Given the description of an element on the screen output the (x, y) to click on. 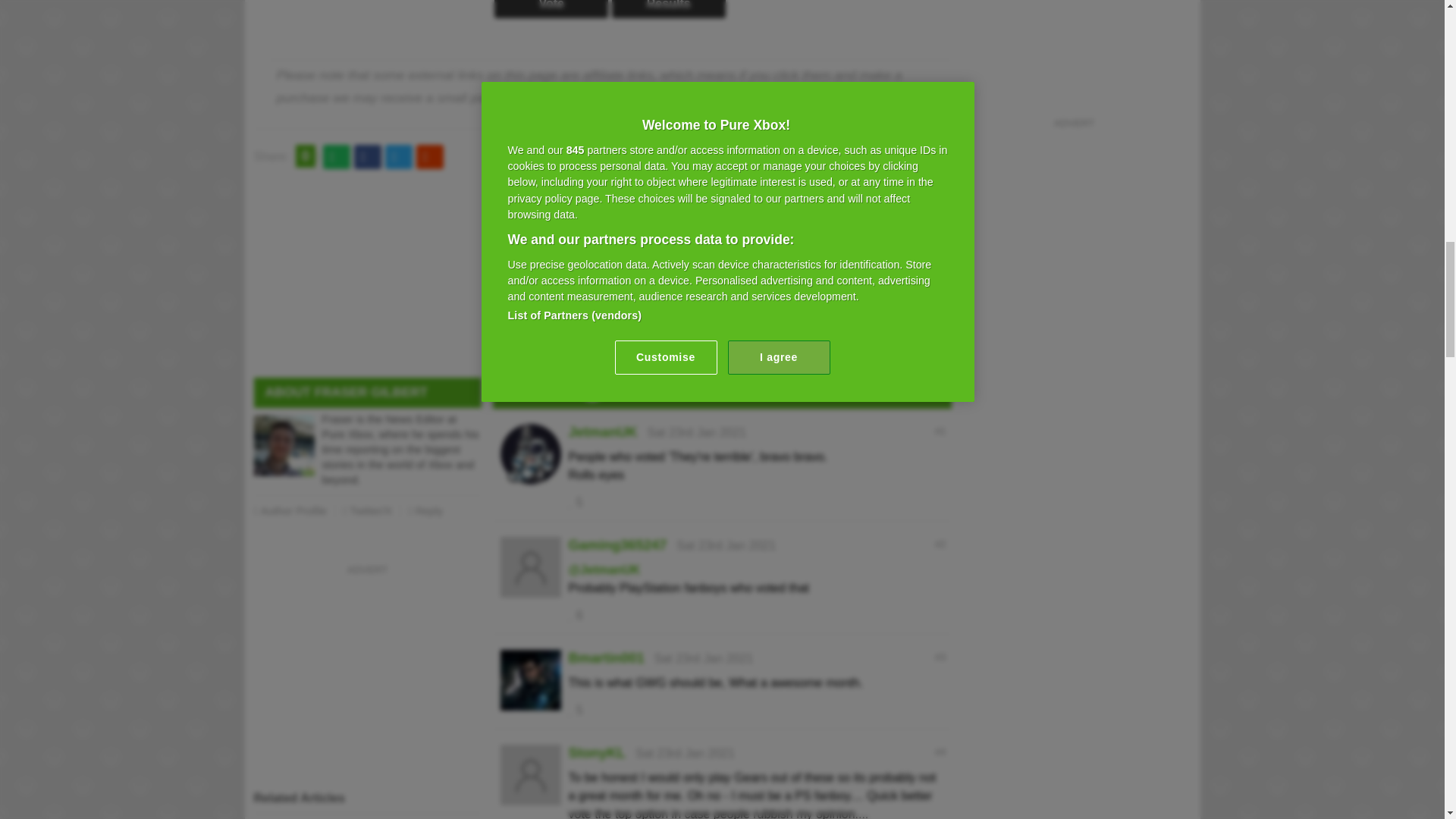
Results (668, 9)
Vote (551, 9)
